Given the description of an element on the screen output the (x, y) to click on. 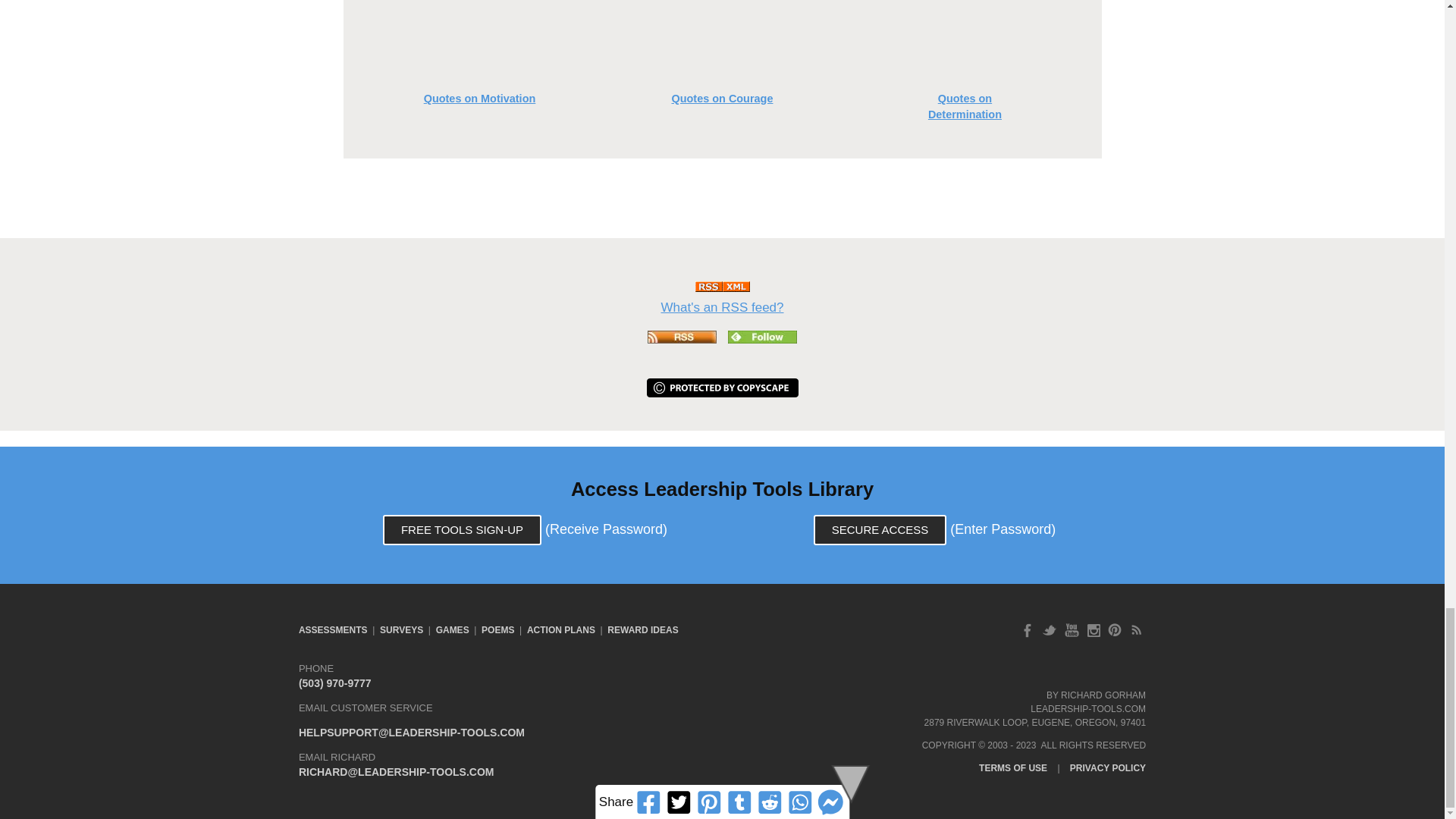
Leadership Tools on Twitter (1049, 630)
Courage Quotations (721, 42)
Leadership Tools Blog (762, 339)
Leadership Tools on Facebook (1026, 630)
Leadership Tools on Instagram (1093, 630)
Leadership Tools on YouTube (1071, 630)
Go to Top Quotes On Courage (721, 90)
Determination Quotations (964, 42)
Motivation Quotations (478, 42)
